Given the description of an element on the screen output the (x, y) to click on. 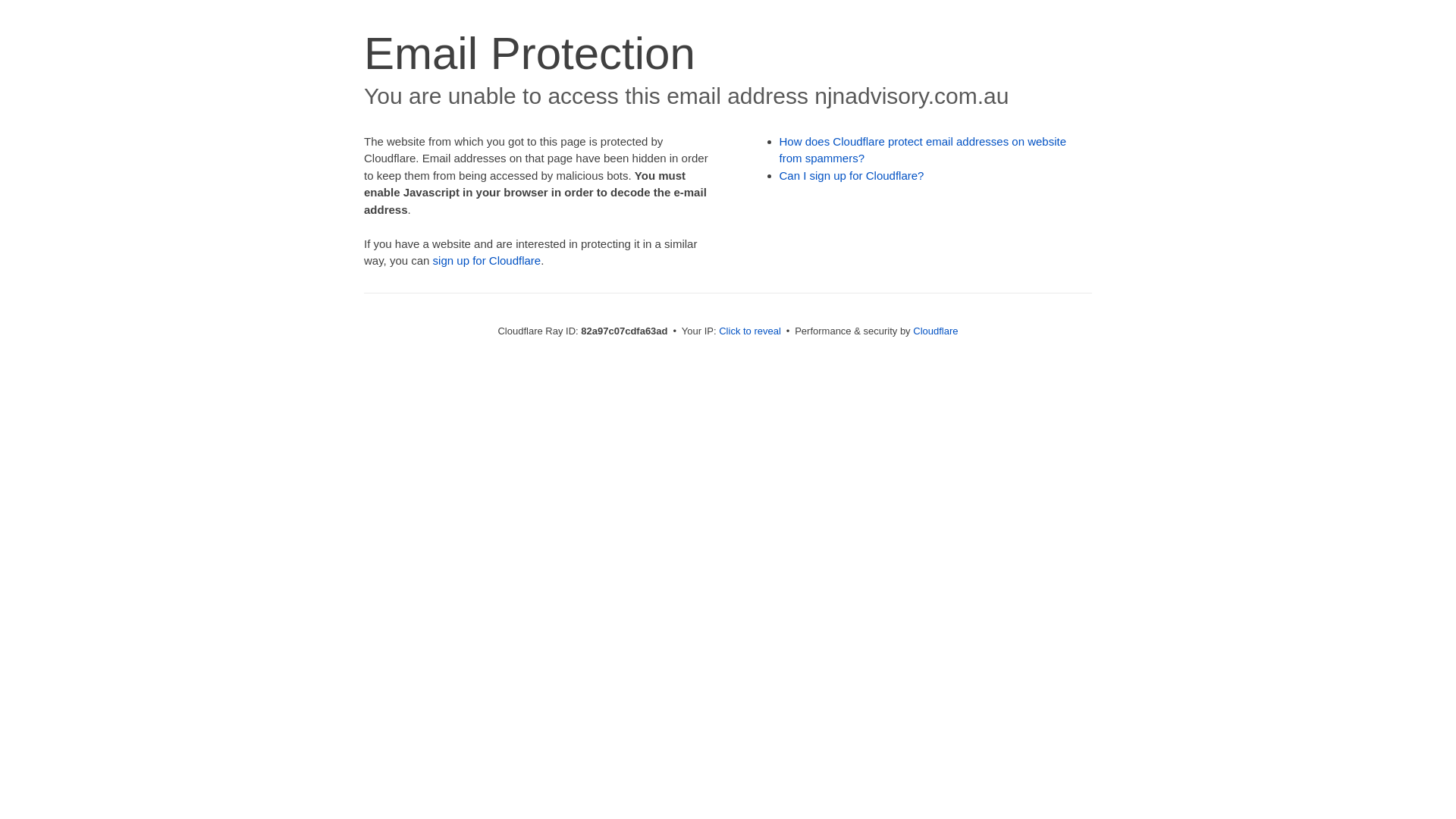
Click to reveal Element type: text (749, 330)
Cloudflare Element type: text (935, 330)
sign up for Cloudflare Element type: text (487, 260)
Can I sign up for Cloudflare? Element type: text (851, 175)
